Given the description of an element on the screen output the (x, y) to click on. 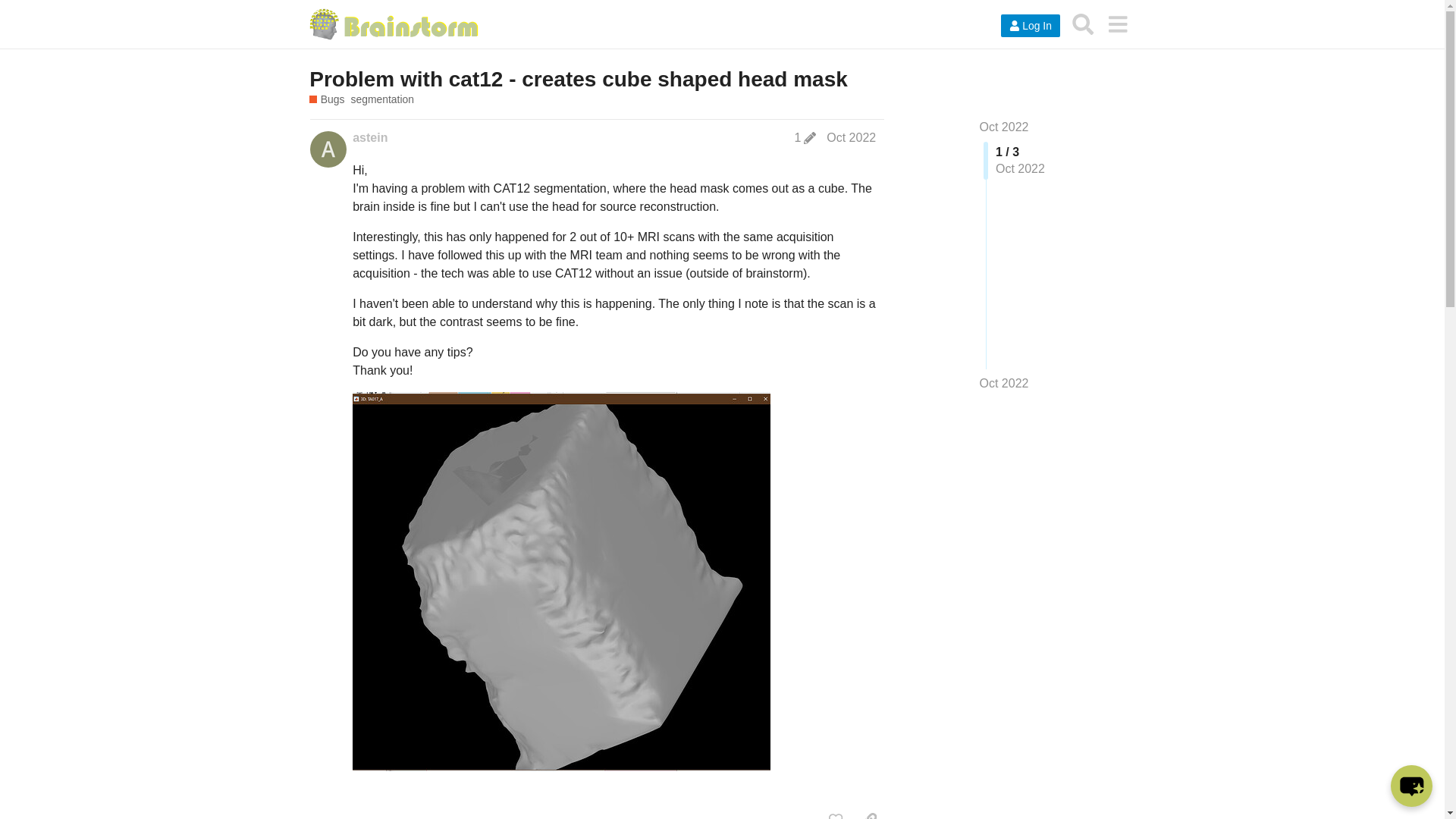
Problem with cat12 - creates cube shaped head mask (577, 78)
like this post (835, 812)
astein (369, 137)
Oct 2022 (1004, 126)
segmentation (382, 99)
Bugs (325, 99)
copy a link to this post to clipboard (869, 812)
post last edited on Oct 27, 2022 4:42 pm (805, 137)
Jump to the last post (1004, 382)
Post date (851, 137)
menu (1117, 23)
Log In (1030, 25)
1 (805, 137)
Search (1082, 23)
